Given the description of an element on the screen output the (x, y) to click on. 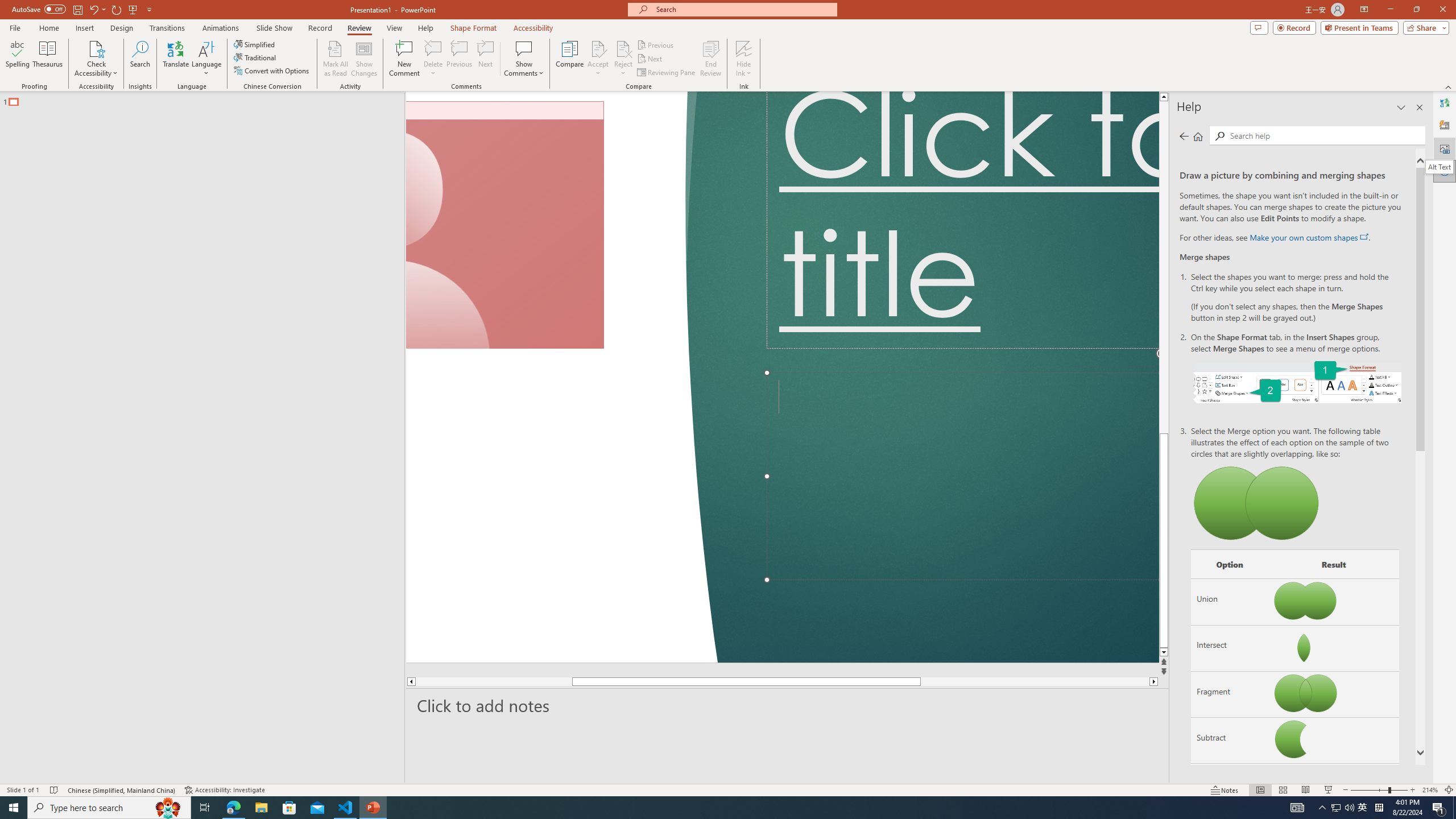
Slide Show (273, 28)
Accept (598, 58)
From Beginning (133, 9)
Slide Sorter (1282, 790)
Review (359, 28)
Transitions (167, 28)
Designer (1444, 125)
Task Pane Options (1400, 107)
Simplified (254, 44)
Show Changes (363, 58)
Undo (96, 9)
Home (1198, 136)
